Given the description of an element on the screen output the (x, y) to click on. 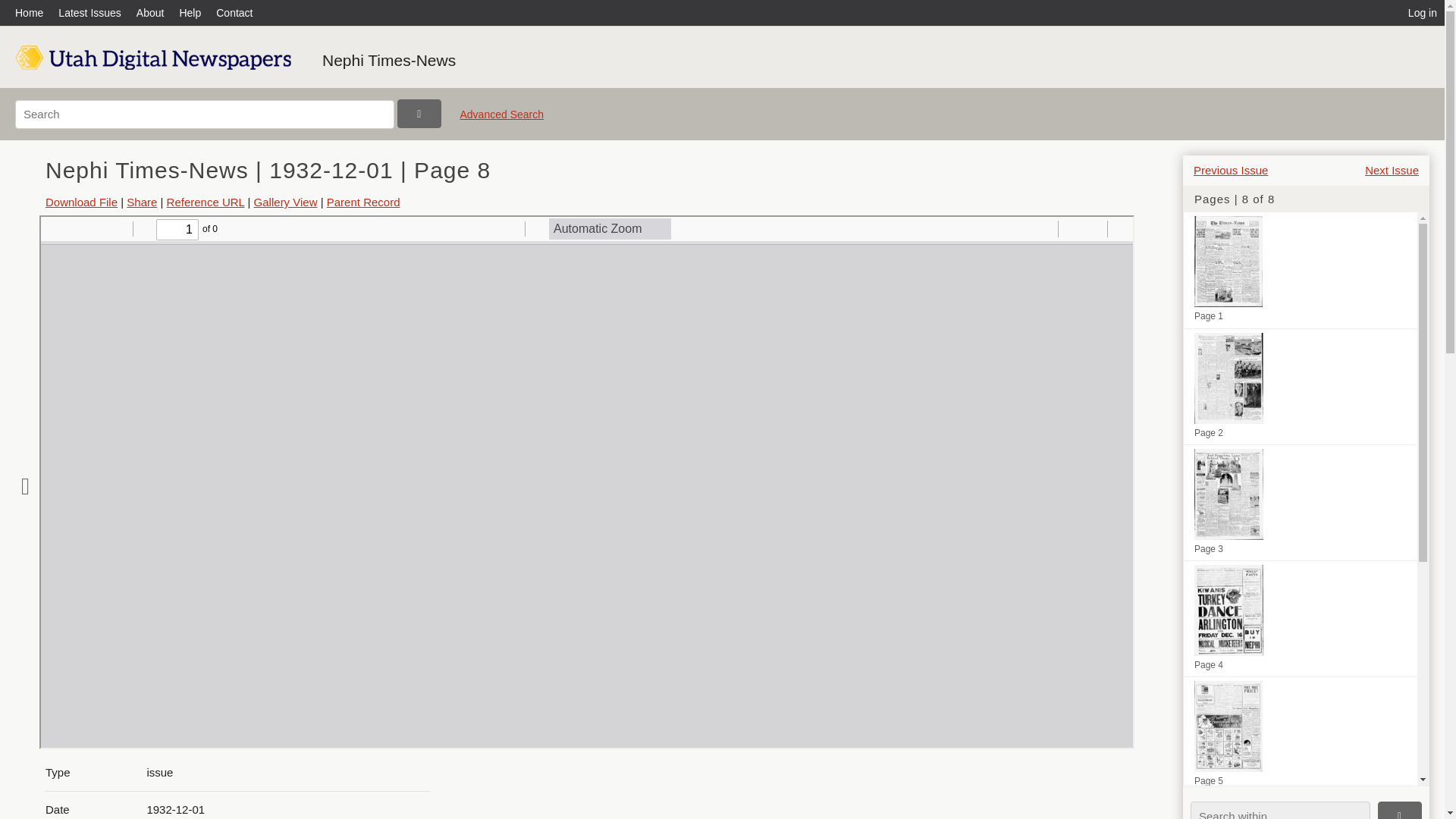
Gallery View (285, 201)
Page 4 (1299, 618)
Page 3 (1299, 502)
About (150, 12)
Parent Record (363, 201)
Page 2 (1299, 386)
Share (141, 201)
Help (189, 12)
Download File (81, 201)
Parent Record (363, 201)
Gallery View (285, 201)
Reference URL (205, 201)
Page 5 (1299, 734)
Download - 524.77K (81, 201)
Page 6 (1299, 806)
